Given the description of an element on the screen output the (x, y) to click on. 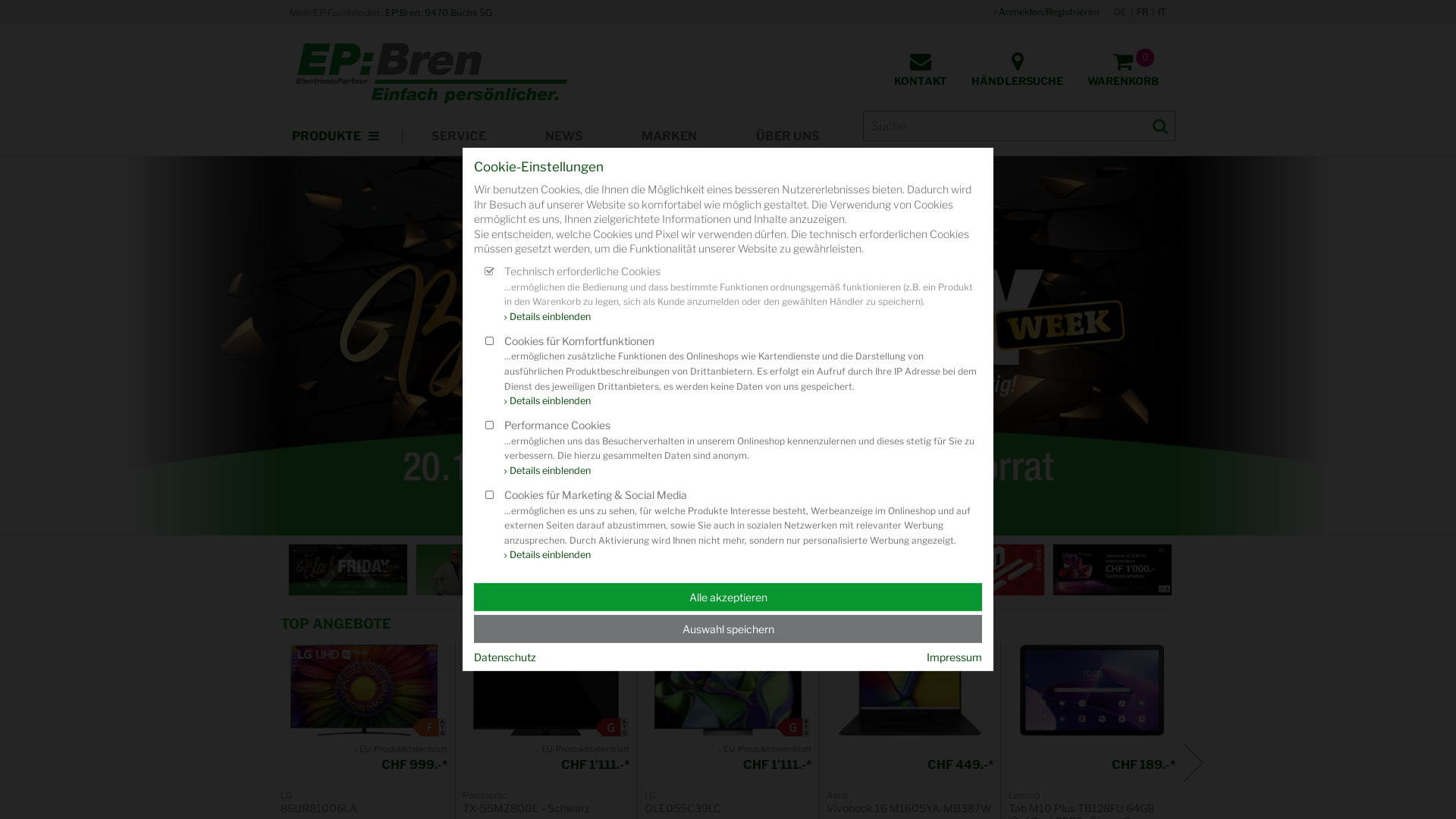
MARKEN Element type: text (669, 135)
Details einblenden Element type: text (547, 470)
OLED55C39LC Element type: hover (727, 689)
FR Element type: text (1142, 11)
Cashback Element type: hover (1112, 569)
Alle akzeptieren Element type: text (727, 597)
Next Element type: text (1192, 762)
PRODUKTE Element type: text (336, 135)
CHF 189.-* Element type: text (1091, 764)
Auswahl speichern Element type: text (727, 629)
EP:Bren, 9470 Buchs SG Element type: text (438, 12)
0
WARENKORB Element type: text (1122, 69)
Details einblenden Element type: text (547, 554)
Vivobook 16 M1605YA-MB387W Element type: text (909, 808)
EU-Produktdatenblatt Element type: text (582, 748)
Panasonic Element type: text (484, 794)
NEWS Element type: text (563, 135)
TX-55MZ800E - Schwarz Element type: text (545, 808)
OLED55C39LC Element type: text (727, 808)
Details einblenden Element type: text (547, 400)
CHF 999.-* Element type: text (363, 764)
LG Element type: text (285, 794)
86UR81006LA Element type: hover (363, 689)
CHF 449.-* Element type: text (909, 764)
Anmelden/Registrieren Element type: text (1046, 11)
Suchen Element type: hover (1159, 125)
TX-55MZ800E Element type: hover (545, 689)
Vivobook 16 M1605YA-MB387W Element type: hover (910, 689)
Panasonic Element type: hover (729, 569)
Lenovo Element type: text (1023, 794)
KONTAKT Element type: text (920, 69)
Black Friday Element type: hover (347, 569)
EU-Produktdatenblatt Element type: text (764, 748)
Tab M10 Plus TB128FU 64GB (3rd Gen) 2023 Element type: hover (1091, 689)
LG Element type: hover (602, 550)
SERVICE Element type: text (458, 135)
86UR81006LA Element type: text (363, 808)
EP:Bren Element type: hover (431, 73)
Datenschutz Element type: text (504, 656)
Asus Element type: text (836, 794)
Philips Element type: hover (857, 550)
Details einblenden Element type: text (547, 316)
EP:Bren Element type: hover (475, 569)
LG Element type: text (649, 794)
EU-Produktdatenblatt Element type: text (400, 748)
IT Element type: text (1161, 11)
Impressum Element type: text (954, 656)
Sonos Element type: hover (984, 569)
